Given the description of an element on the screen output the (x, y) to click on. 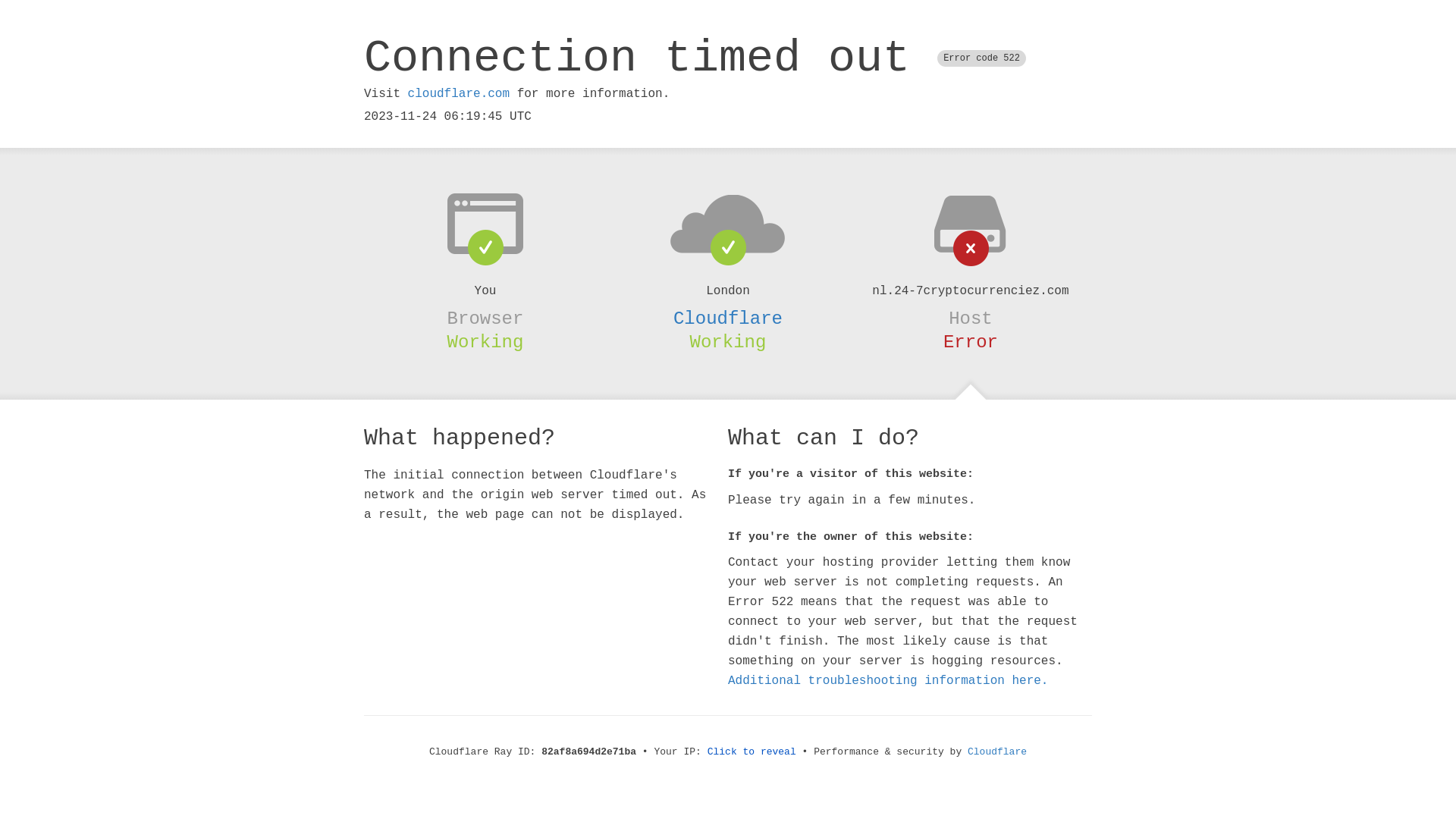
Click to reveal Element type: text (751, 751)
Cloudflare Element type: text (727, 318)
Cloudflare Element type: text (996, 751)
cloudflare.com Element type: text (458, 93)
Additional troubleshooting information here. Element type: text (888, 680)
